Given the description of an element on the screen output the (x, y) to click on. 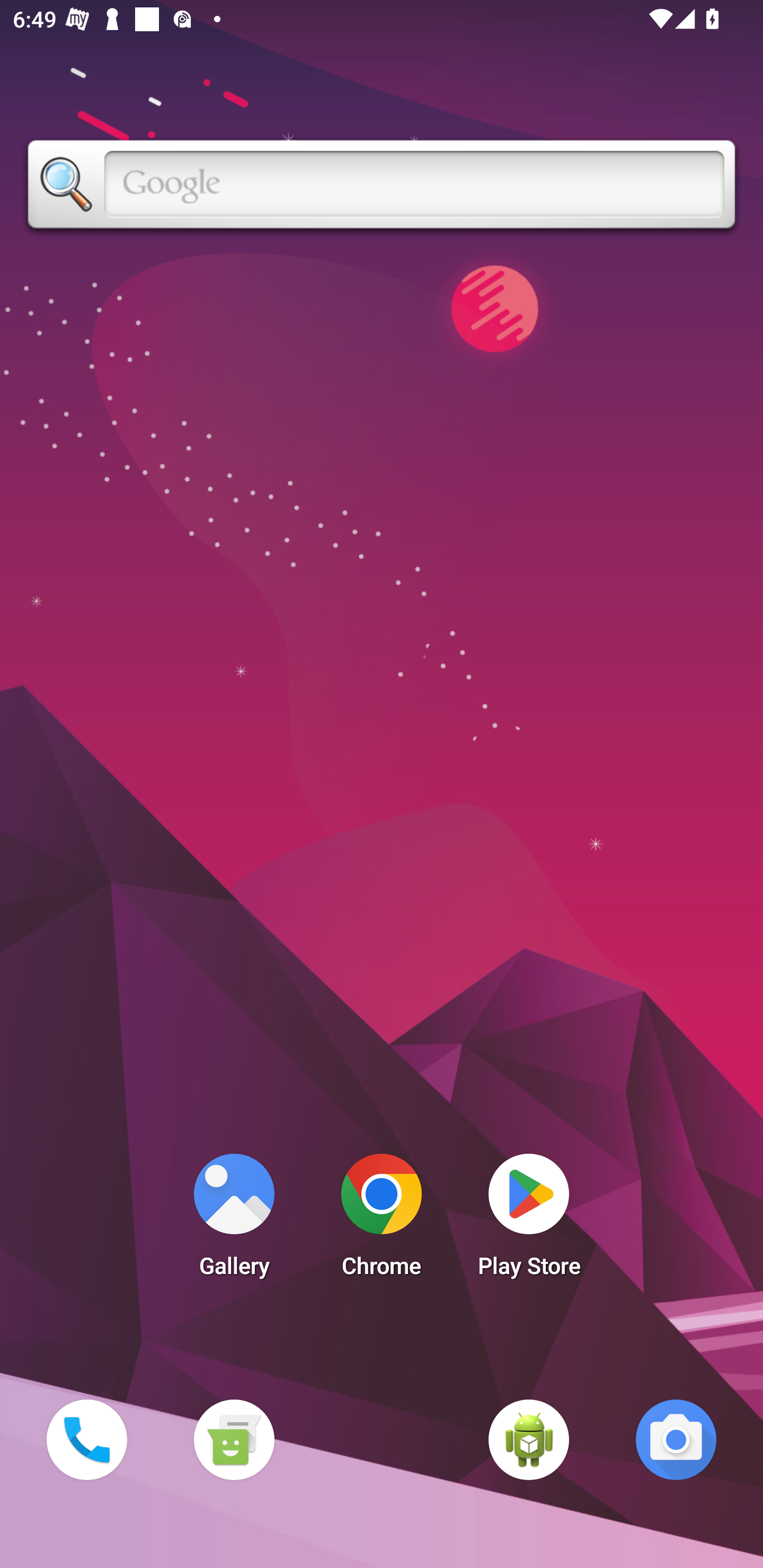
Gallery (233, 1220)
Chrome (381, 1220)
Play Store (528, 1220)
Phone (86, 1439)
Messaging (233, 1439)
WebView Browser Tester (528, 1439)
Camera (676, 1439)
